Given the description of an element on the screen output the (x, y) to click on. 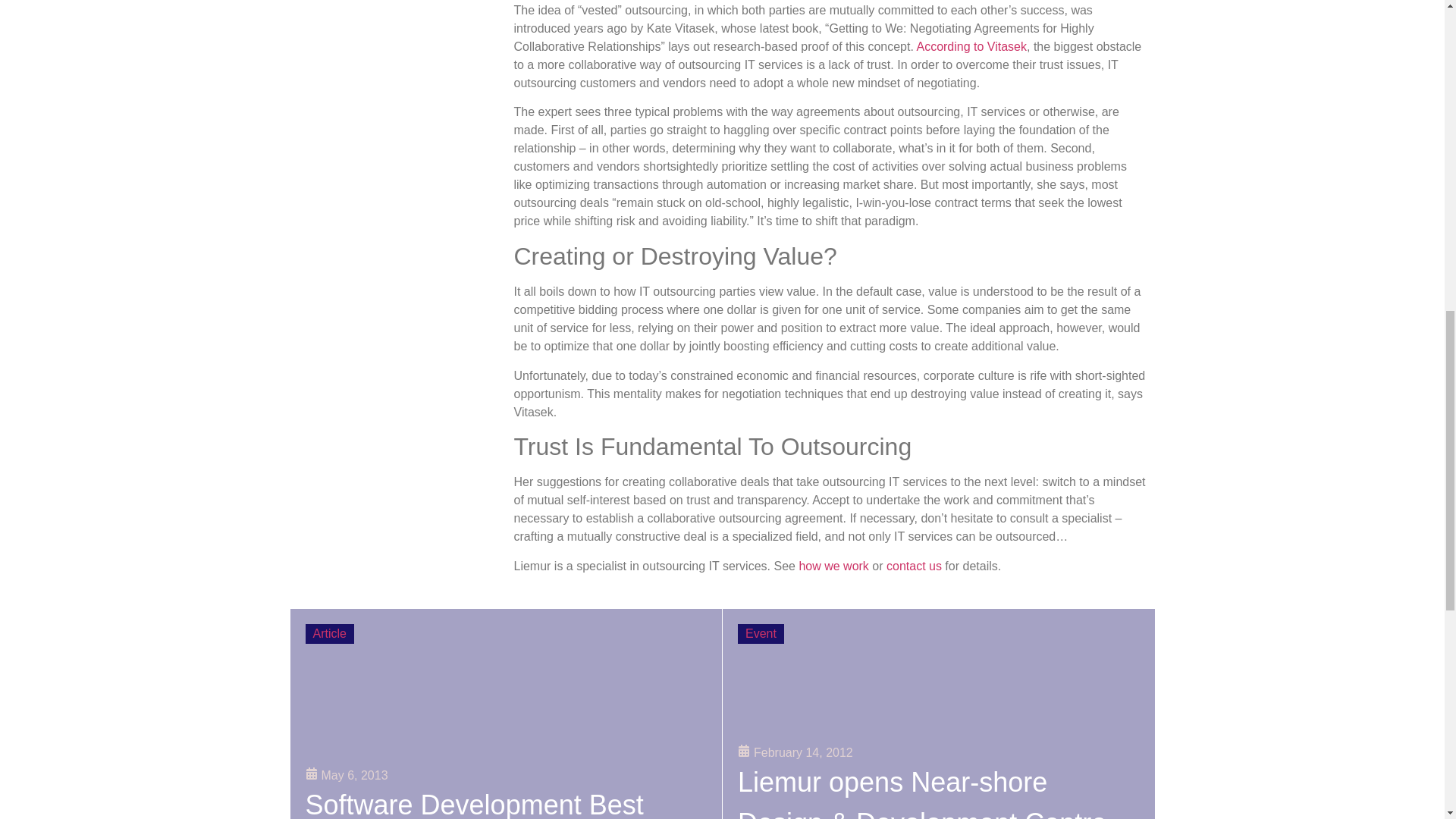
how we work (832, 565)
Article (328, 633)
According to Vitasek (970, 46)
contact us (914, 565)
